Given the description of an element on the screen output the (x, y) to click on. 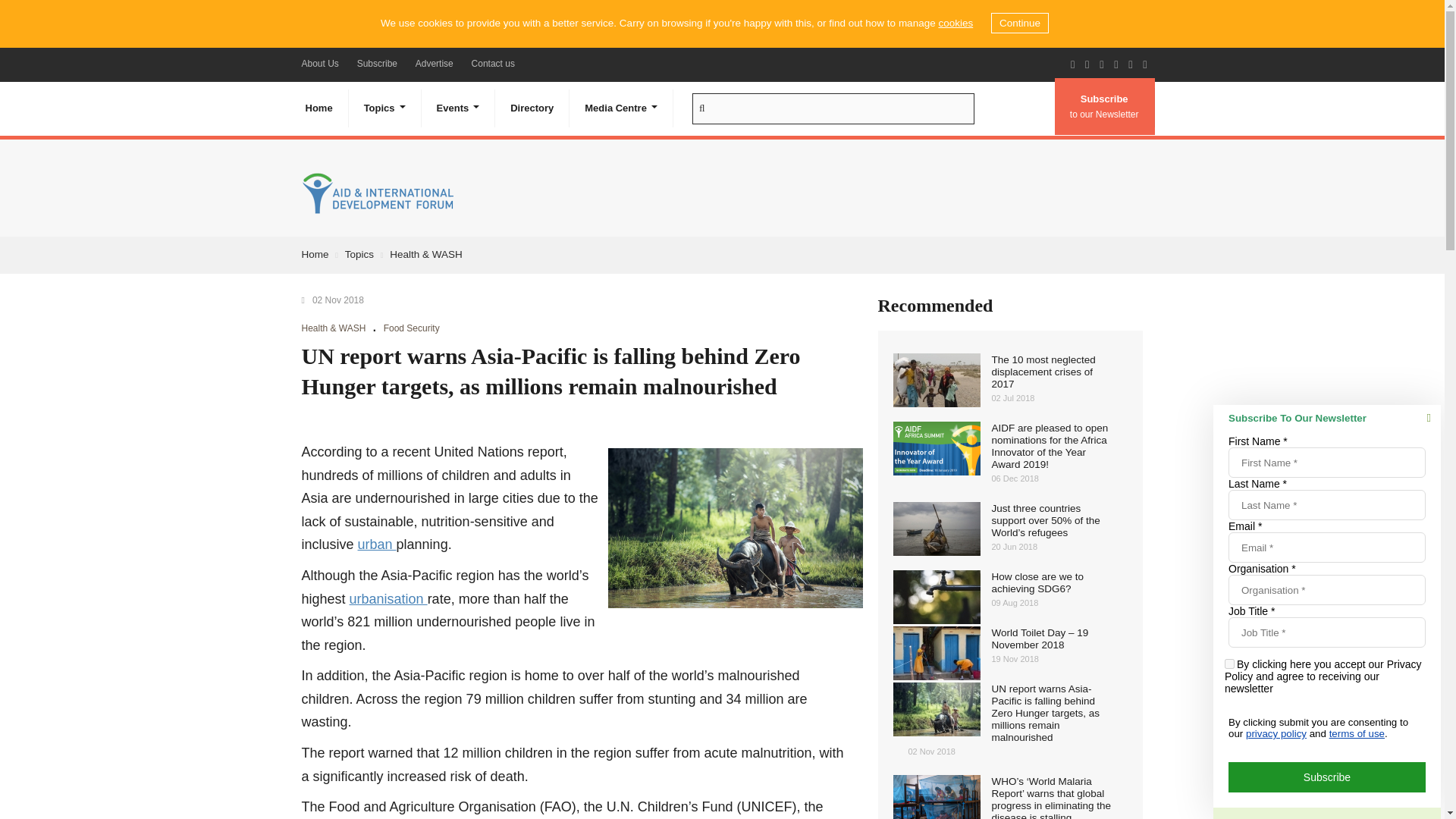
Subscribe (376, 63)
Home (318, 108)
Topics... (385, 108)
Contact us (493, 63)
cookies (954, 22)
Advertise (434, 63)
About Us (320, 63)
